Given the description of an element on the screen output the (x, y) to click on. 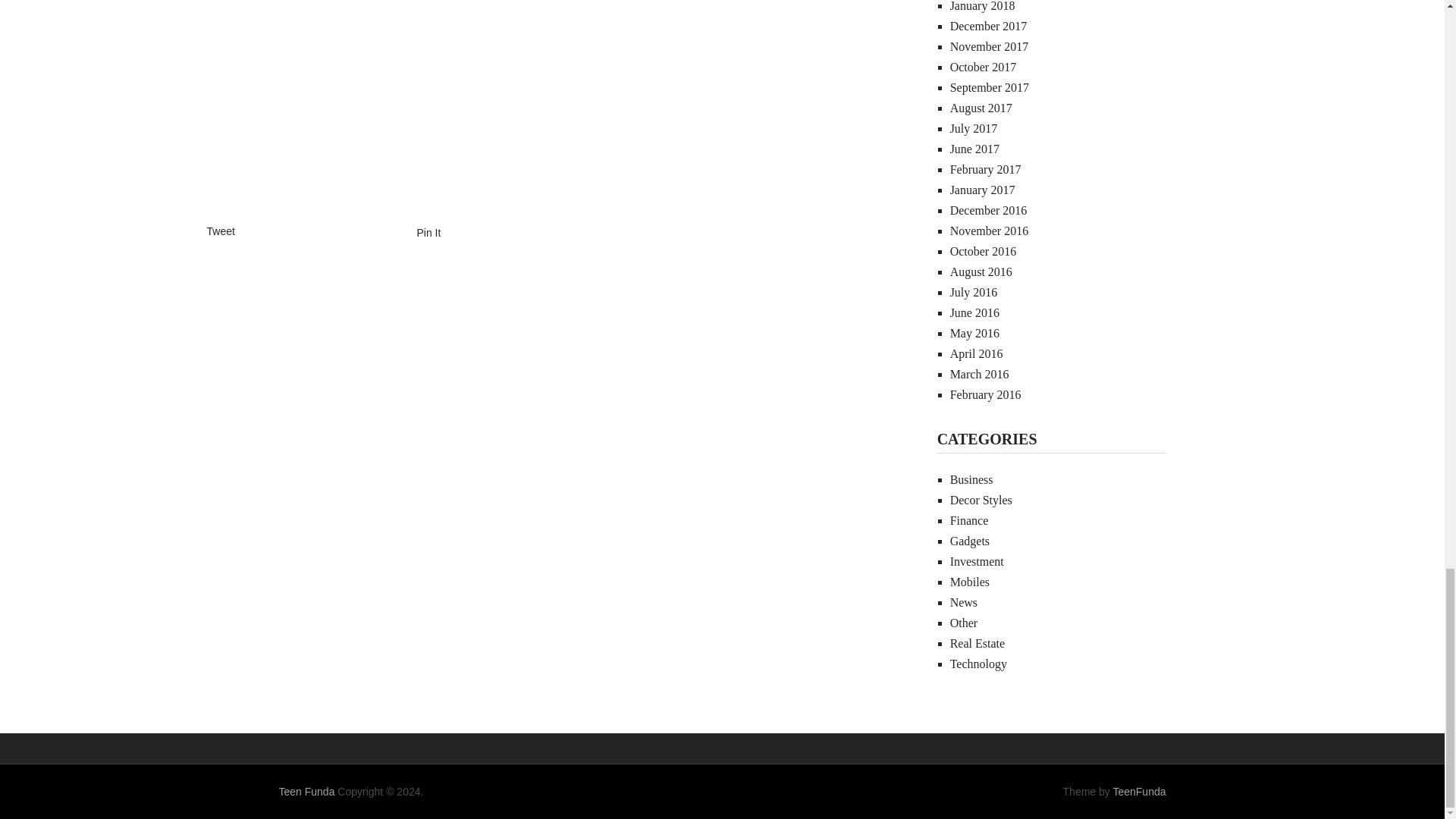
The Joy Of Teen Funda (306, 791)
